Given the description of an element on the screen output the (x, y) to click on. 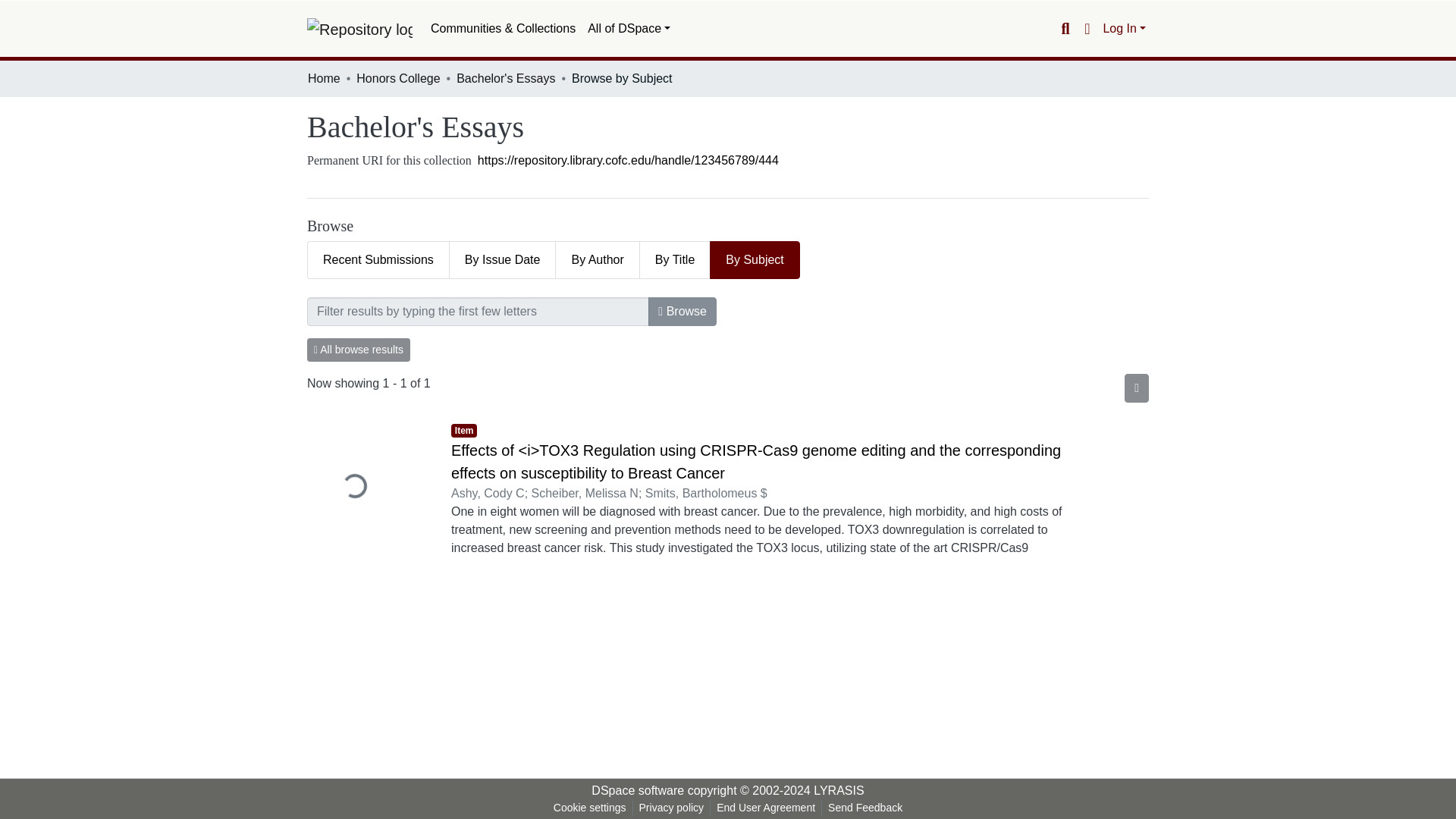
By Issue Date (502, 259)
Language switch (1086, 28)
Home (323, 78)
Honors College (397, 78)
All of DSpace (628, 28)
All browse results (358, 349)
Browse (681, 311)
Loading... (367, 487)
Bachelor's Essays (505, 78)
Recent Submissions (378, 259)
